Given the description of an element on the screen output the (x, y) to click on. 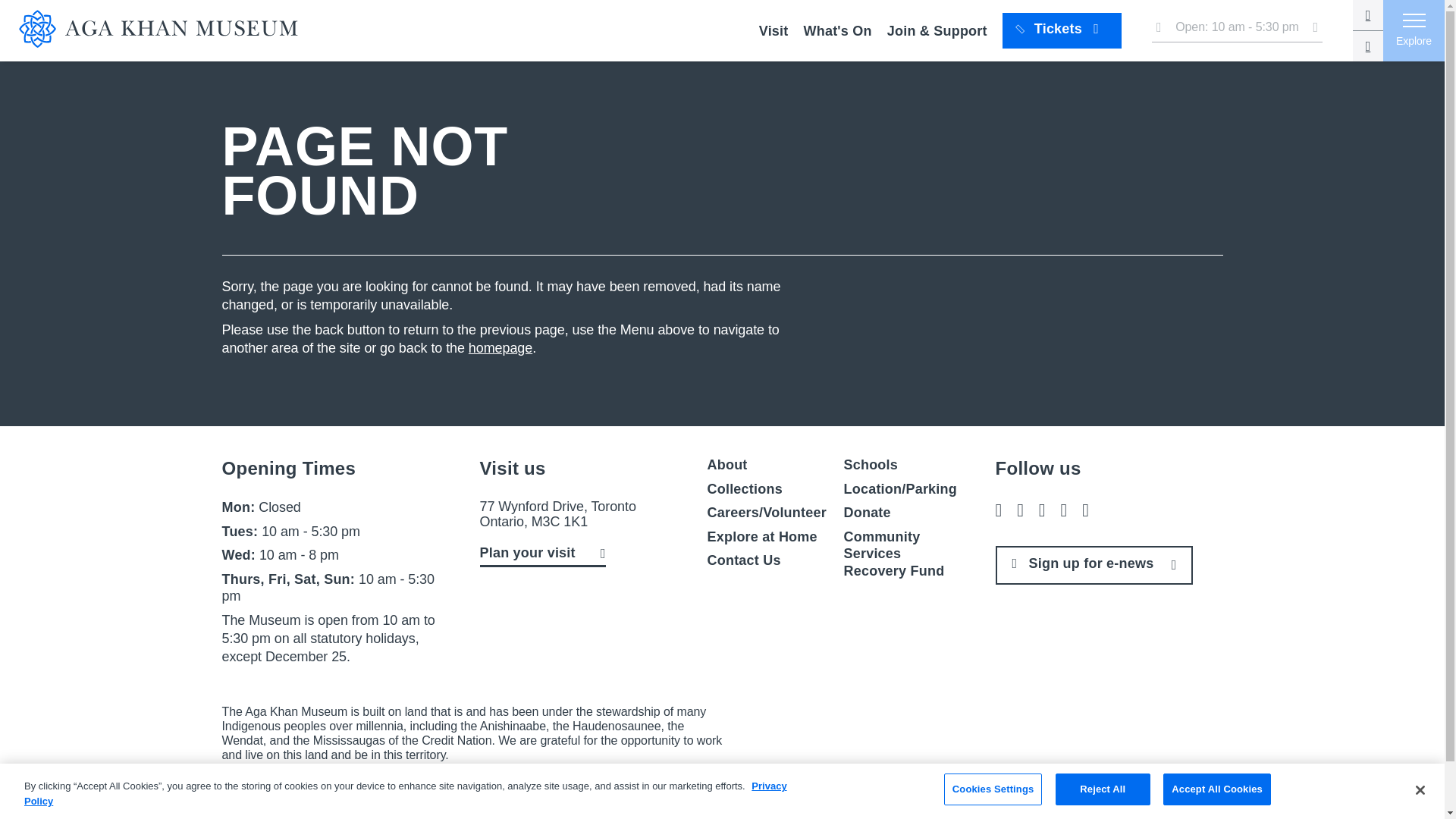
Aga Khan Museum (166, 31)
Open: 10 am - 5:30 pm (1236, 30)
What's On (837, 29)
Visit (773, 29)
Cart (1367, 46)
Account (1367, 15)
Aga Khan Museum - Home (166, 31)
